Given the description of an element on the screen output the (x, y) to click on. 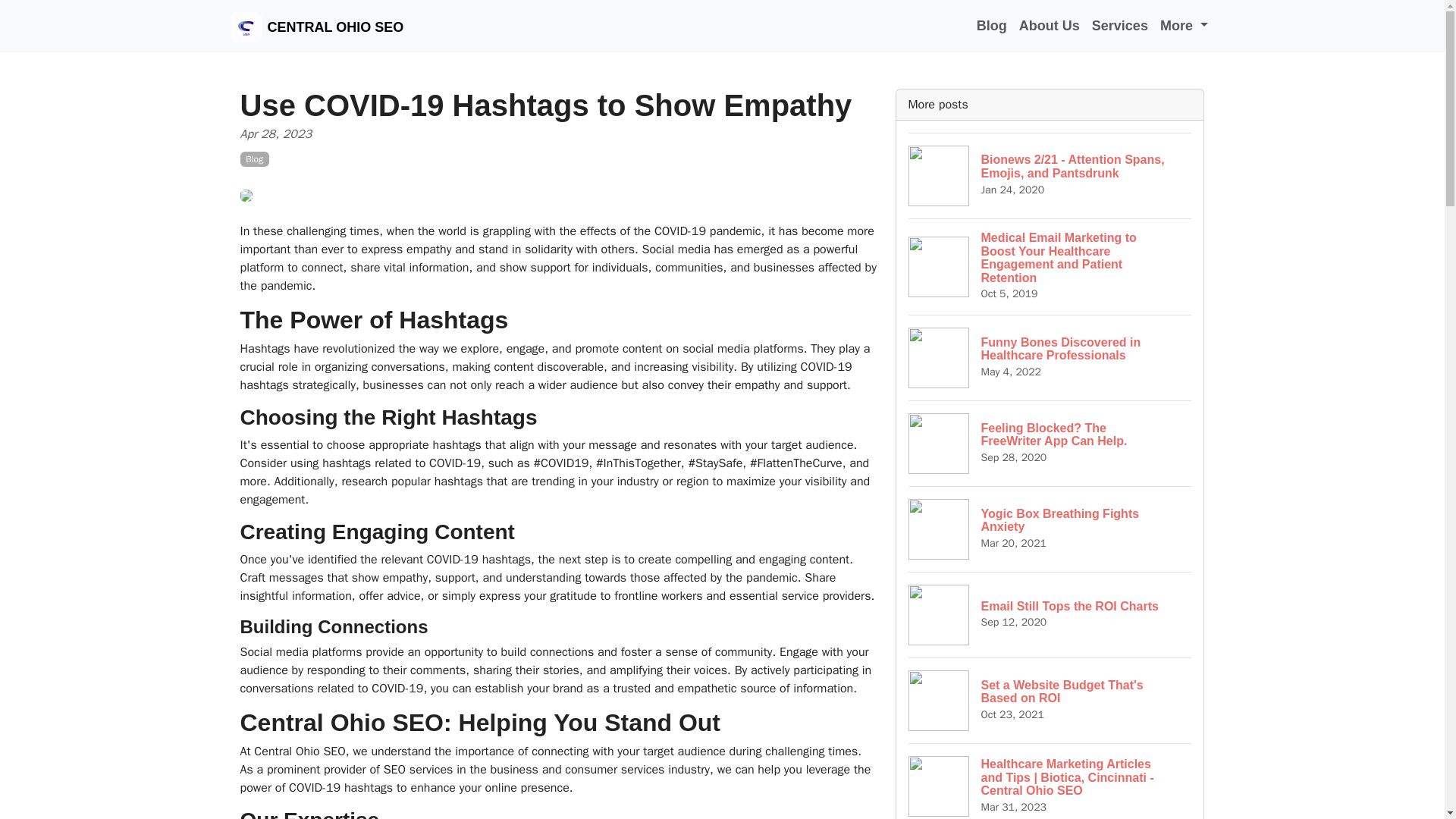
More (1184, 25)
Blog (253, 159)
CENTRAL OHIO SEO (316, 25)
Services (1050, 699)
About Us (1120, 25)
Blog (1050, 614)
